Given the description of an element on the screen output the (x, y) to click on. 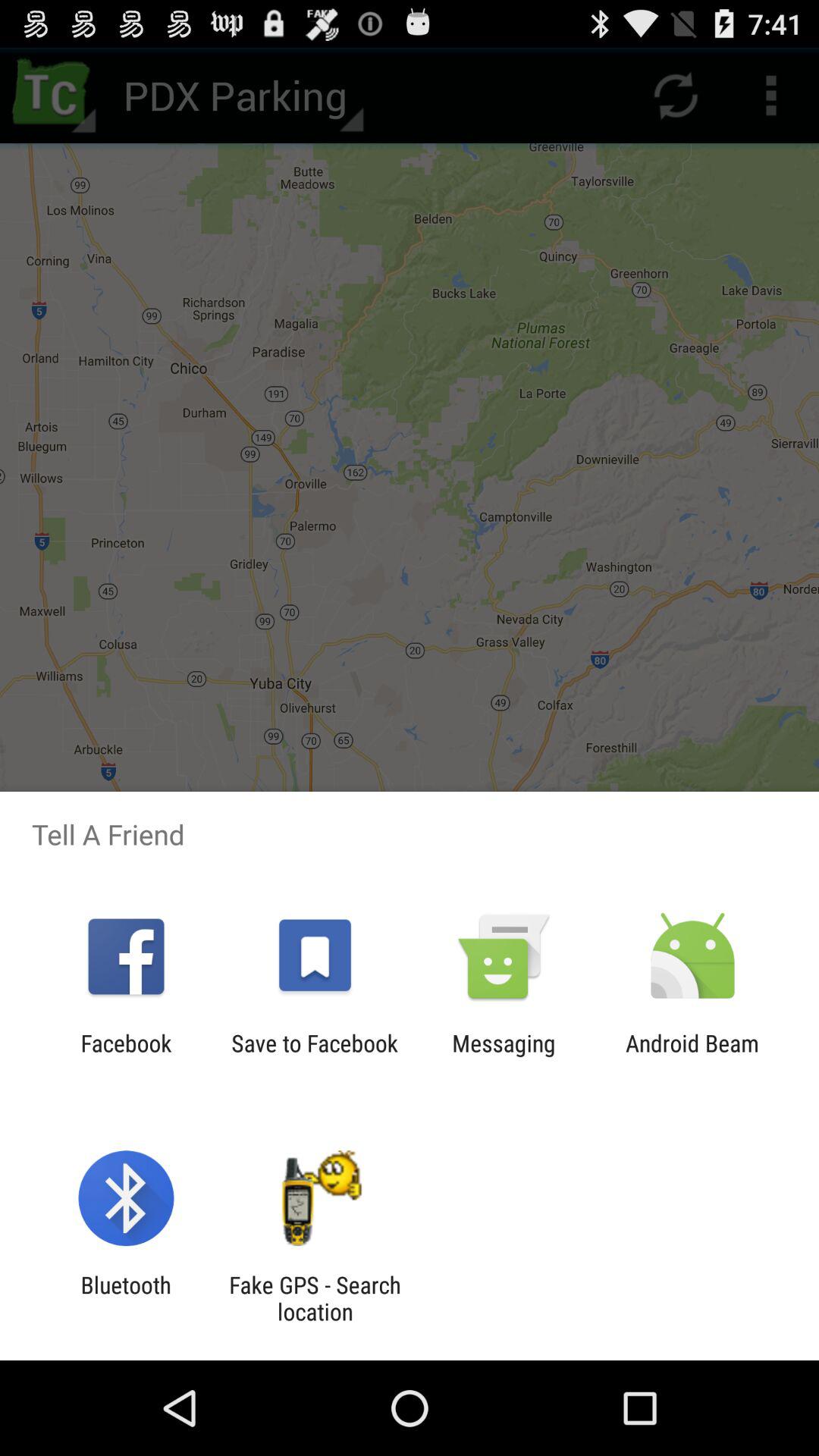
tap item next to the bluetooth app (314, 1298)
